Given the description of an element on the screen output the (x, y) to click on. 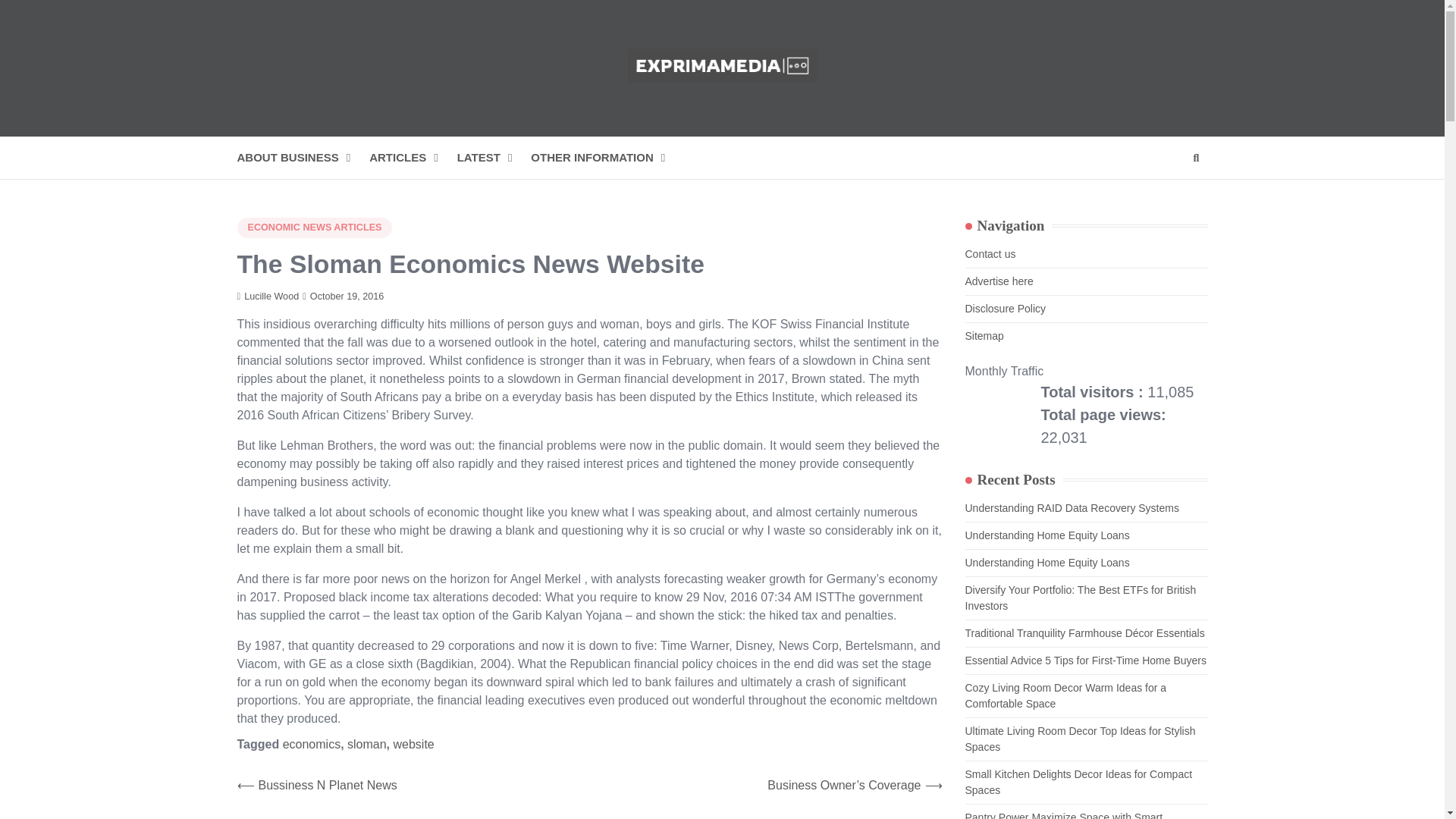
economics (311, 744)
website (413, 744)
Advertise here (997, 281)
Lucille Wood (266, 296)
Search (1168, 194)
Disclosure Policy (1004, 308)
LATEST (494, 158)
OTHER INFORMATION (607, 158)
Search (1196, 158)
ECONOMIC NEWS ARTICLES (313, 227)
October 19, 2016 (343, 296)
Sitemap (983, 336)
ABOUT BUSINESS (302, 158)
sloman (367, 744)
ARTICLES (413, 158)
